Given the description of an element on the screen output the (x, y) to click on. 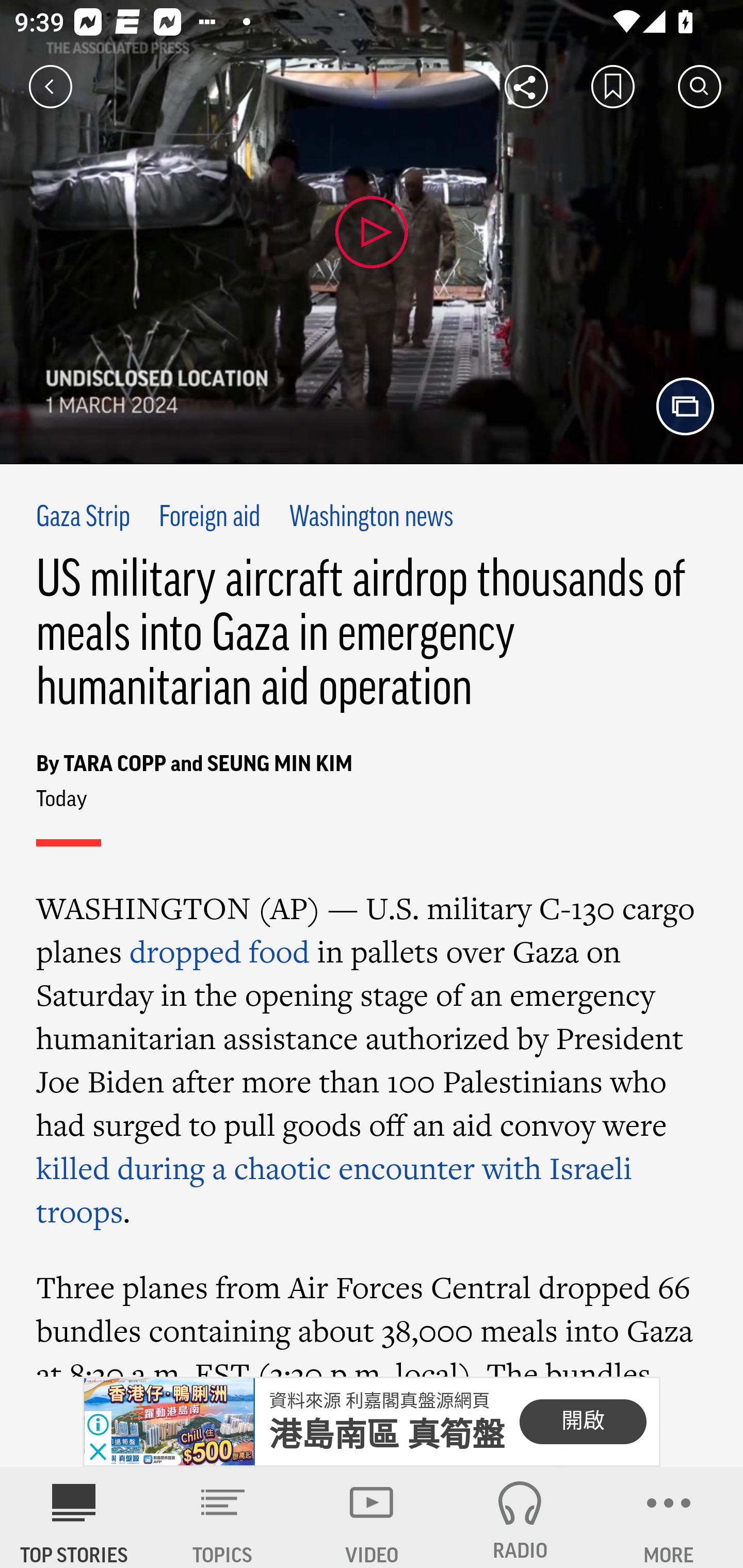
Gaza Strip (83, 518)
Foreign aid (208, 518)
Washington news (371, 518)
dropped food (218, 951)
資料來源 利嘉閣真盤源網頁 (379, 1400)
開啟 (582, 1421)
港島南區 真筍盤 (386, 1435)
AP News TOP STORIES (74, 1517)
TOPICS (222, 1517)
VIDEO (371, 1517)
RADIO (519, 1517)
MORE (668, 1517)
